Given the description of an element on the screen output the (x, y) to click on. 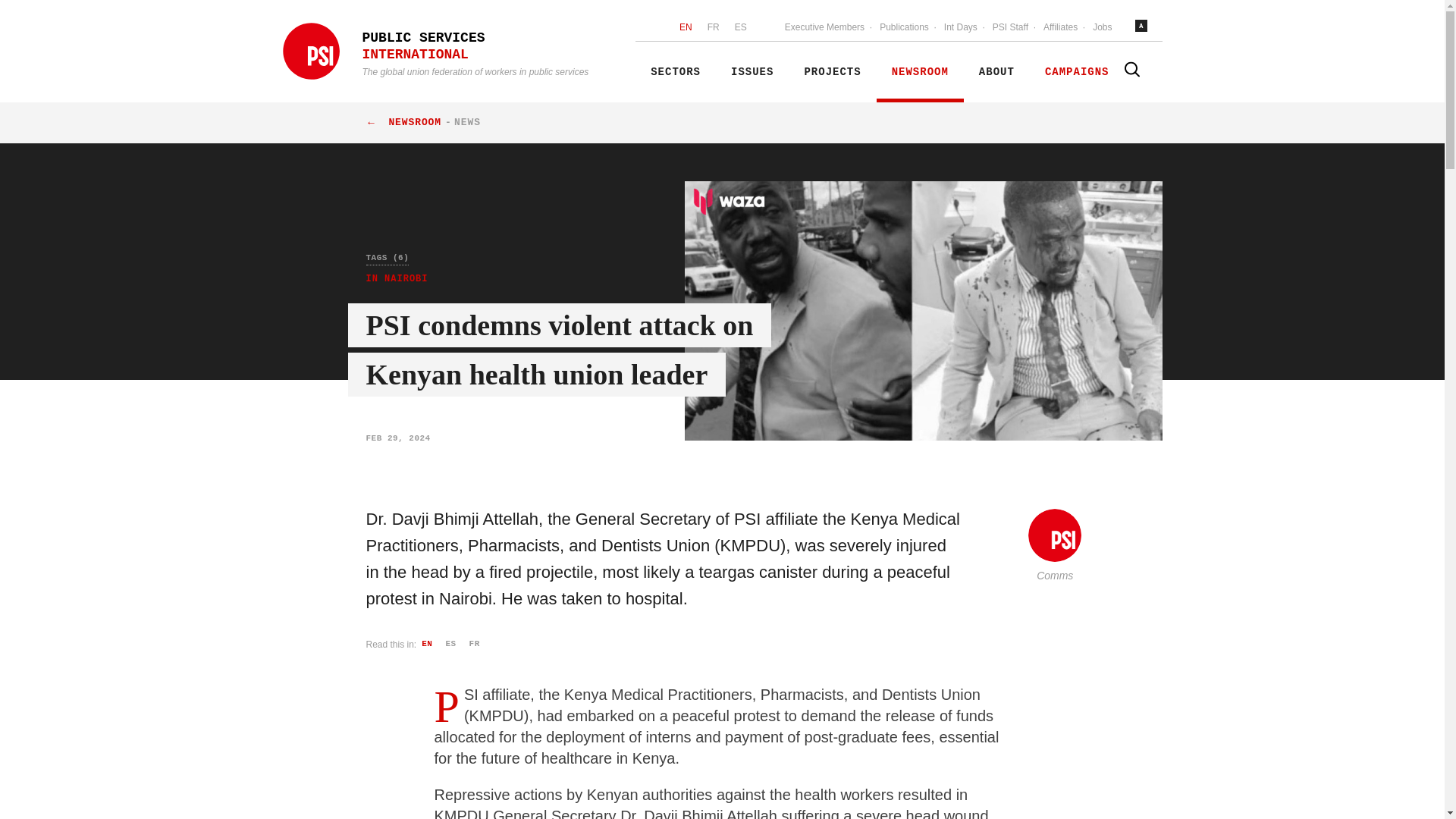
SECTORS (675, 71)
Jobs (1101, 27)
Publications (904, 27)
ES (740, 27)
Affiliates (1059, 27)
Int Days (960, 27)
PSI Staff (1010, 27)
EN (685, 27)
FR (713, 27)
ISSUES (752, 71)
Executive Members (824, 27)
